Given the description of an element on the screen output the (x, y) to click on. 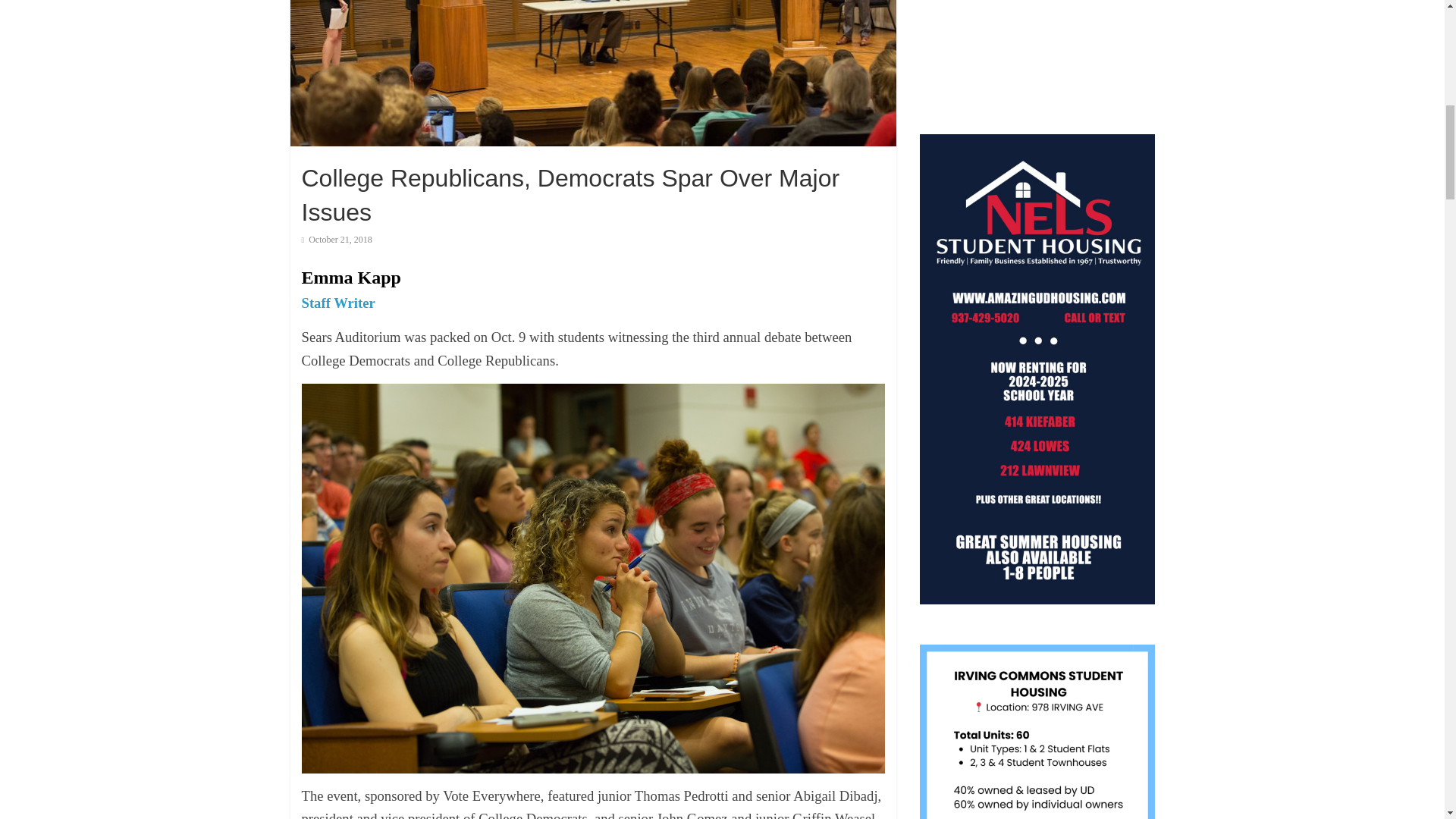
Staff Writer (338, 302)
7:12 PM (336, 239)
Emma Kapp (351, 277)
October 21, 2018 (336, 239)
